Given the description of an element on the screen output the (x, y) to click on. 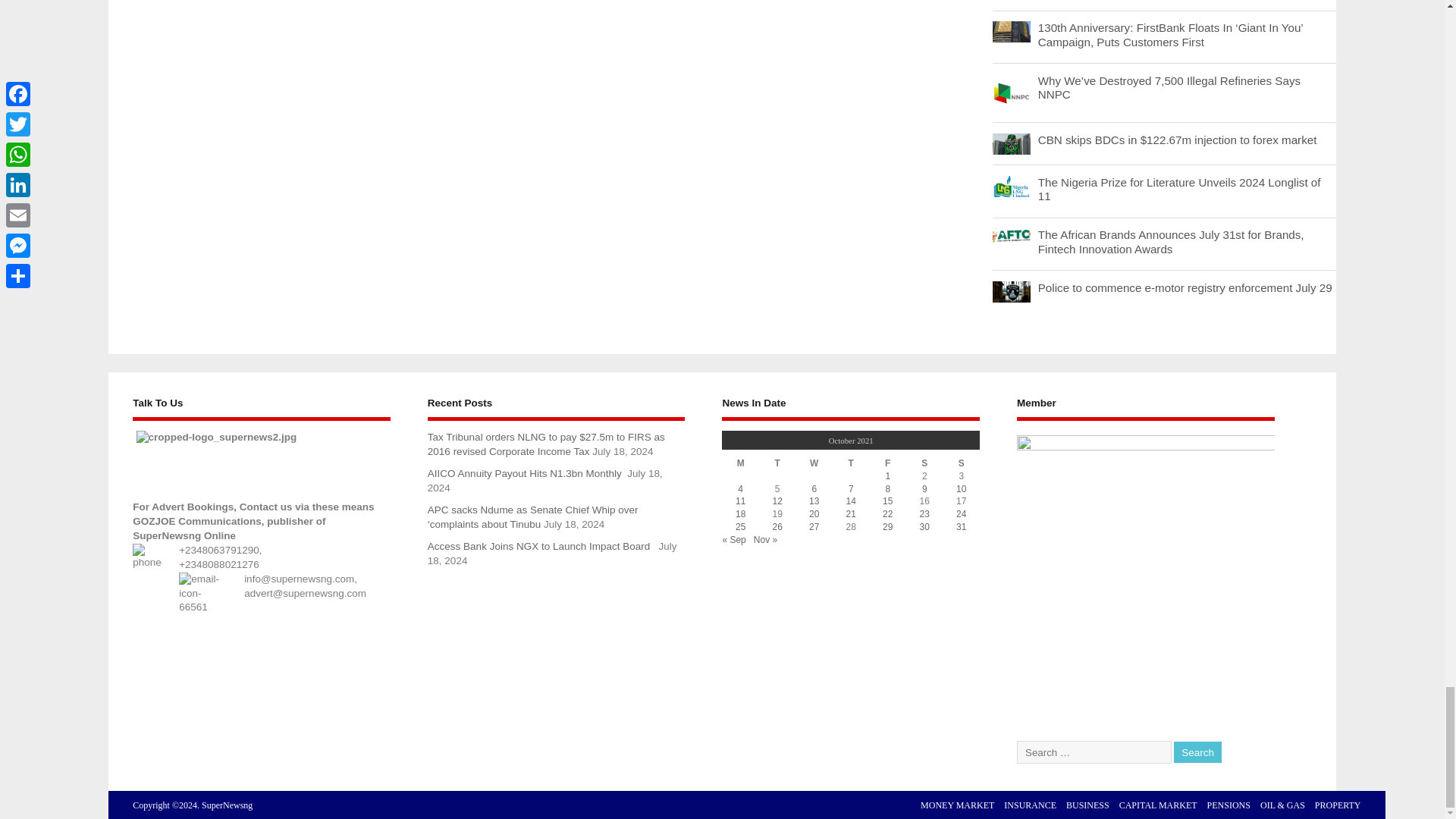
Search (1197, 752)
Search (1197, 752)
